Given the description of an element on the screen output the (x, y) to click on. 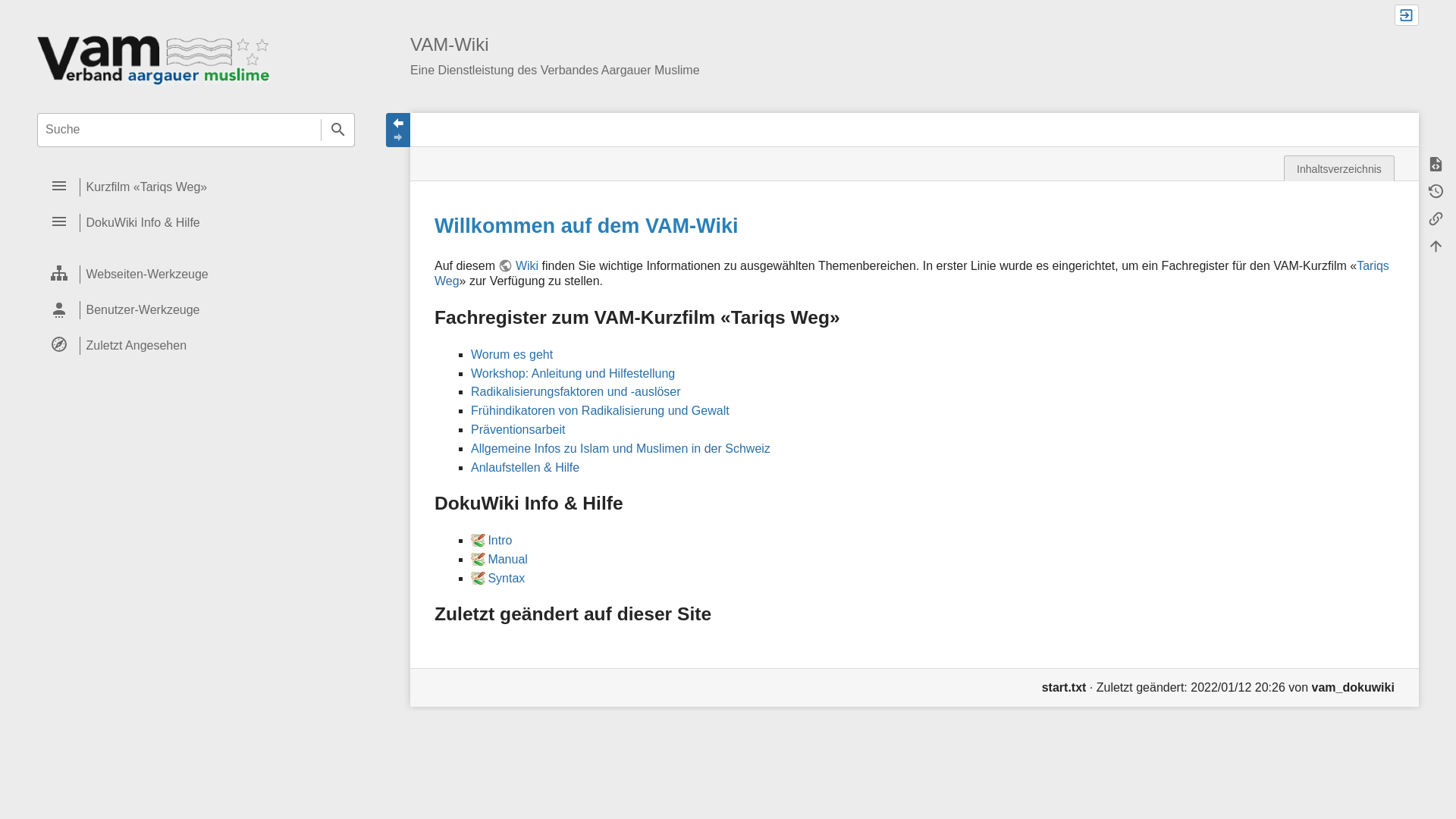
Anmelden Element type: hover (1406, 14)
Inhaltsverzeichnis Element type: text (1338, 167)
Links hierher Element type: text (1435, 218)
Tariqs Weg Element type: text (911, 273)
Worum es geht Element type: text (511, 354)
Allgemeine Infos zu Islam und Muslimen in der Schweiz Element type: text (620, 448)
[F] Element type: hover (195, 129)
Workshop: Anleitung und Hilfestellung Element type: text (572, 373)
Webseiten-Werkzeuge Element type: text (195, 274)
Nach oben Element type: text (1435, 246)
Syntax Element type: text (497, 577)
Intro Element type: text (490, 539)
DokuWiki Info & Hilfe Element type: text (195, 223)
Zeige Quelltext Element type: text (1435, 164)
Manual Element type: text (498, 558)
Suche Element type: text (337, 129)
Wiki Element type: text (518, 265)
Benutzer-Werkzeuge Element type: text (195, 310)
[H] Element type: hover (153, 59)
Anlaufstellen & Hilfe Element type: text (524, 467)
Zuletzt Angesehen Element type: text (195, 345)
